Given the description of an element on the screen output the (x, y) to click on. 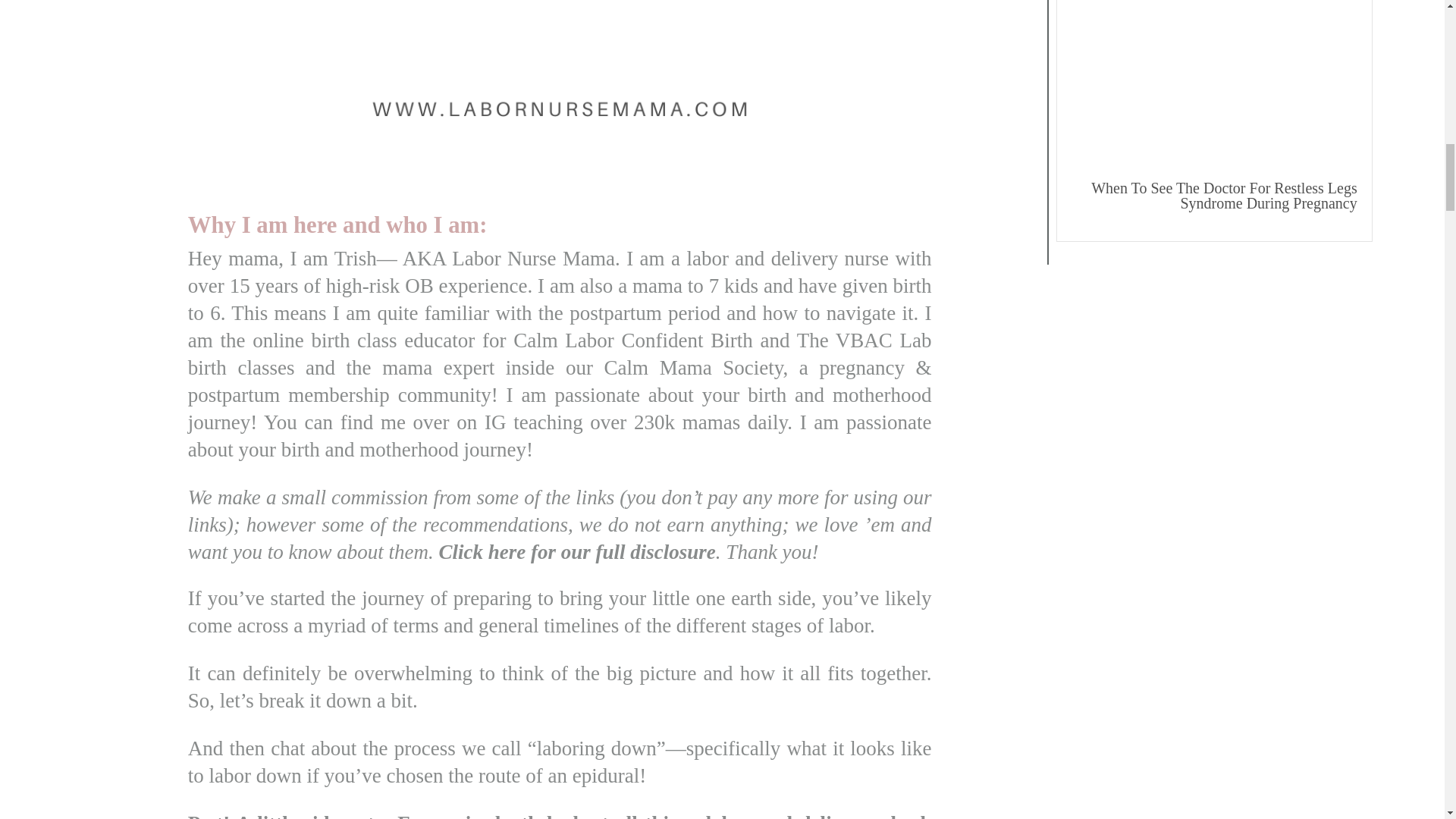
Calm Mama Society (693, 367)
Click here for our full disclosure (577, 551)
The VBAC Lab birth classes (559, 354)
Calm Labor Confident Birth (632, 340)
